Given the description of an element on the screen output the (x, y) to click on. 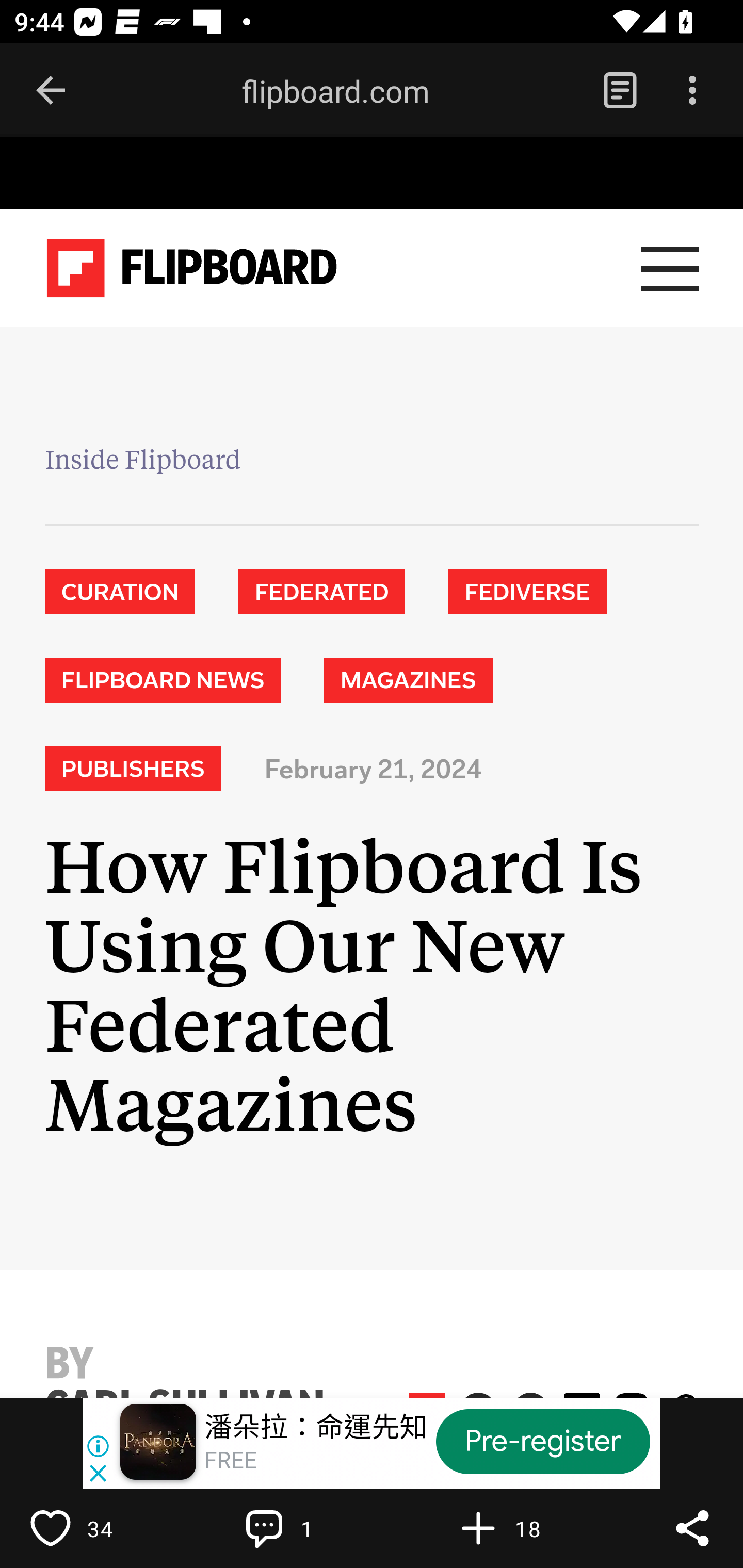
Back (50, 90)
Reader View (619, 90)
Options (692, 90)
Flipboard Logo (192, 268)
Inside Flipboard (142, 462)
CURATION (119, 590)
FEDERATED (322, 590)
FEDIVERSE (527, 590)
FLIPBOARD NEWS (162, 680)
MAGAZINES (407, 680)
PUBLISHERS (132, 767)
潘朵拉：命運先知 (316, 1428)
Pre-register (542, 1441)
FREE (230, 1461)
Like 34 (93, 1528)
Write a comment… 1 (307, 1528)
Flip into Magazine 18 (521, 1528)
Share (692, 1528)
